Given the description of an element on the screen output the (x, y) to click on. 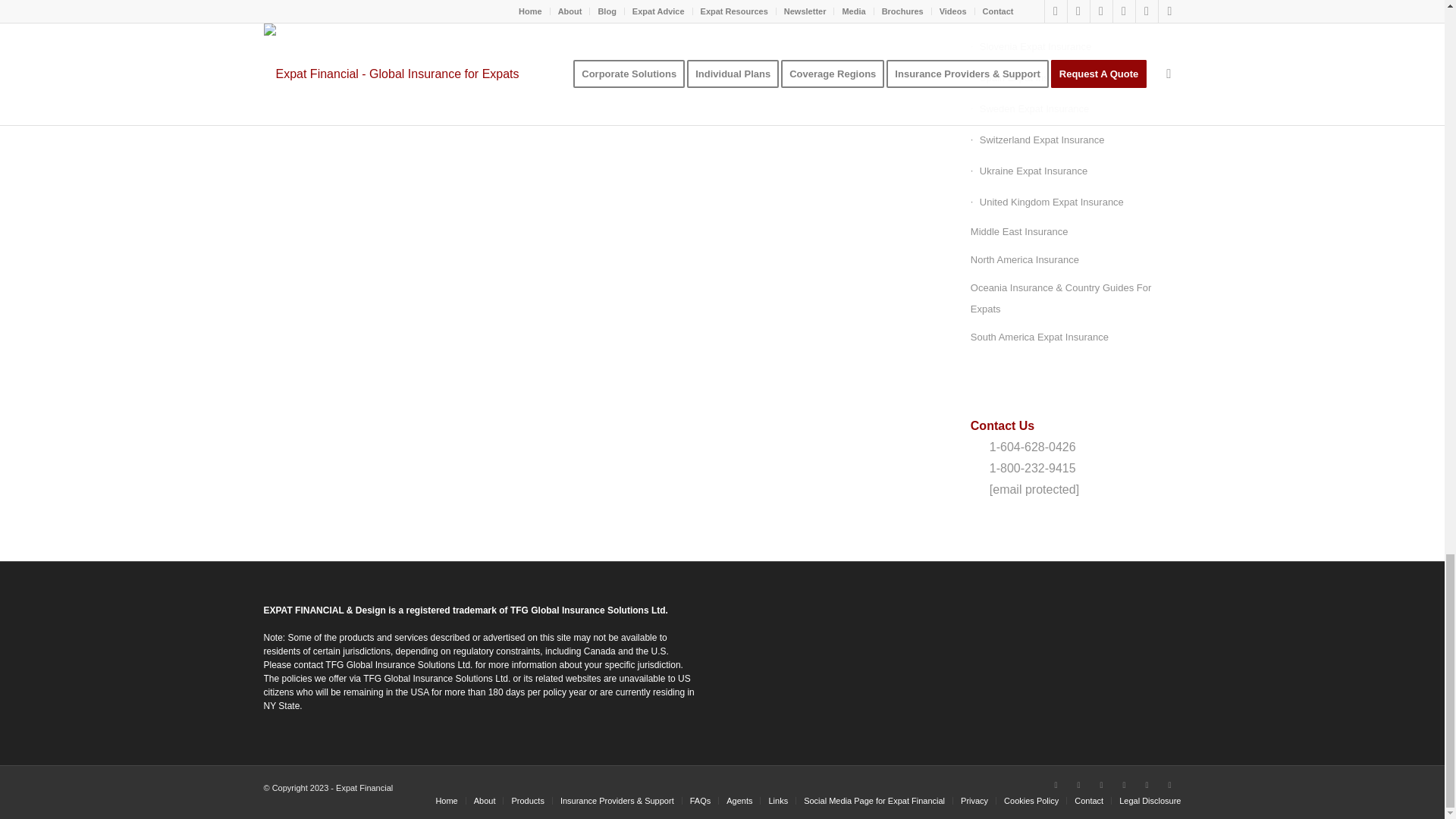
X (1032, 784)
Facebook (1056, 784)
